Given the description of an element on the screen output the (x, y) to click on. 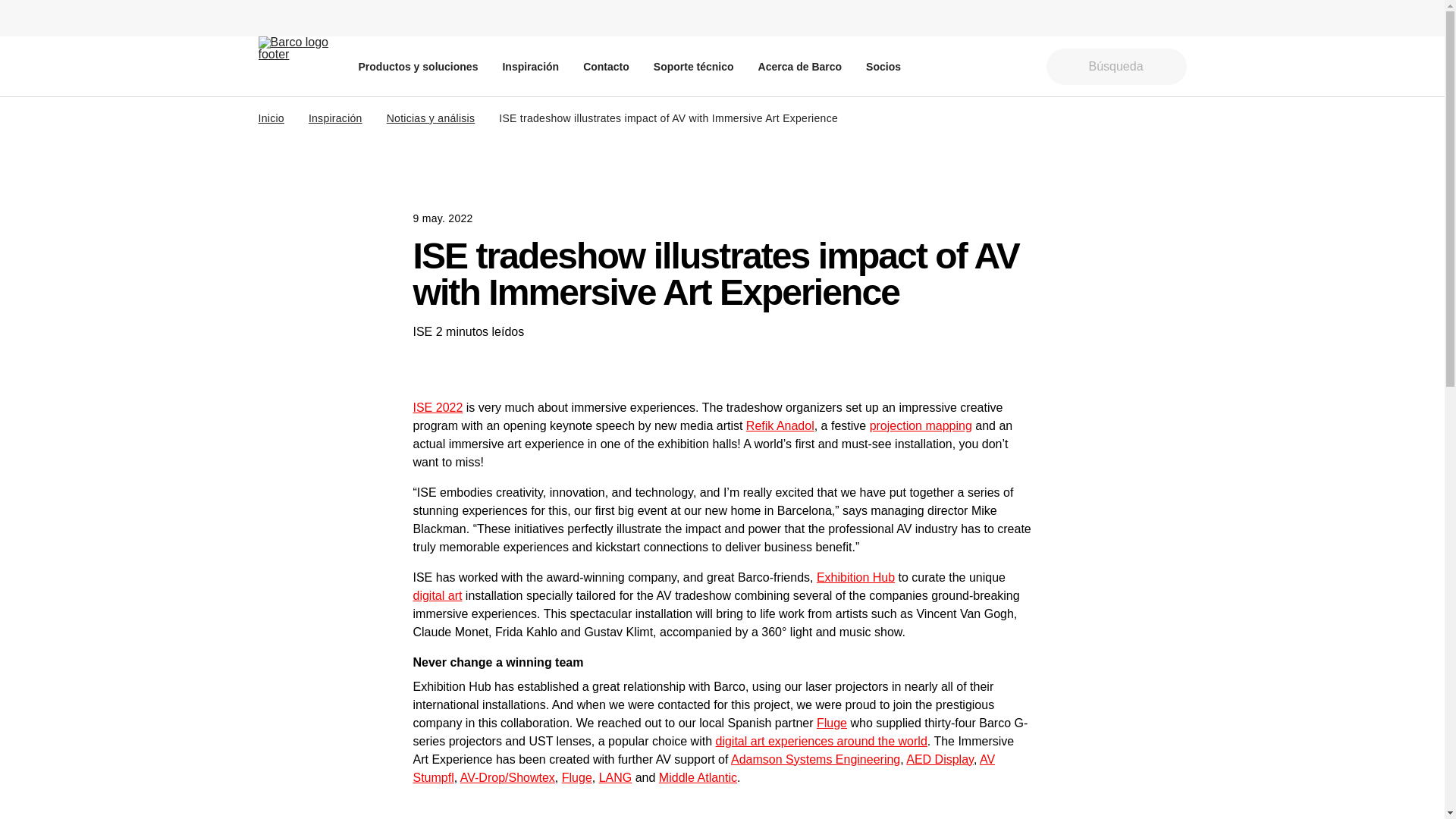
Productos y soluciones (417, 66)
Acerca de Barco (800, 66)
